Given the description of an element on the screen output the (x, y) to click on. 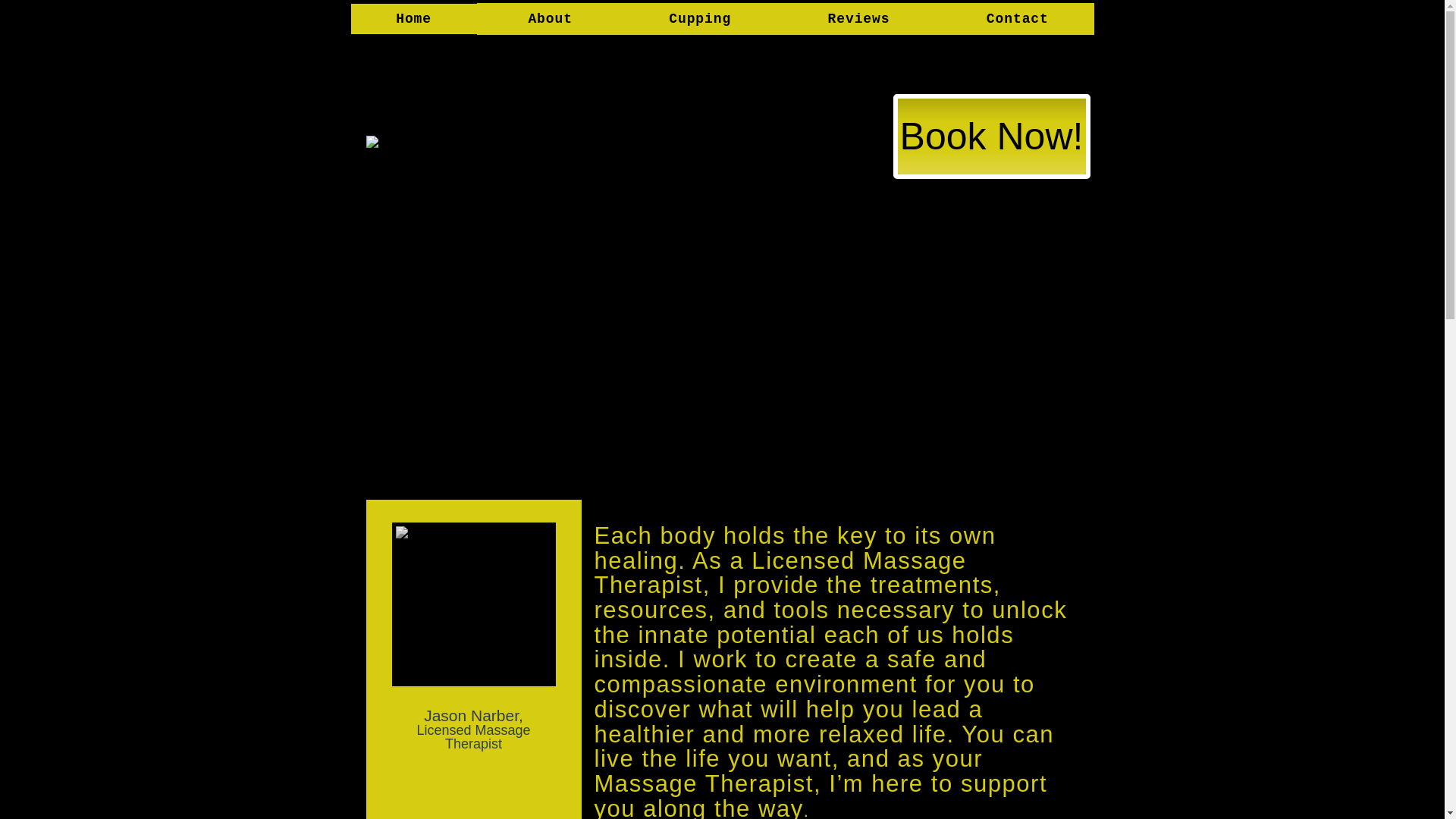
Book Now! (991, 136)
Home (413, 19)
About (550, 19)
Cupping (700, 19)
Reviews (858, 19)
Contact (1016, 19)
